Given the description of an element on the screen output the (x, y) to click on. 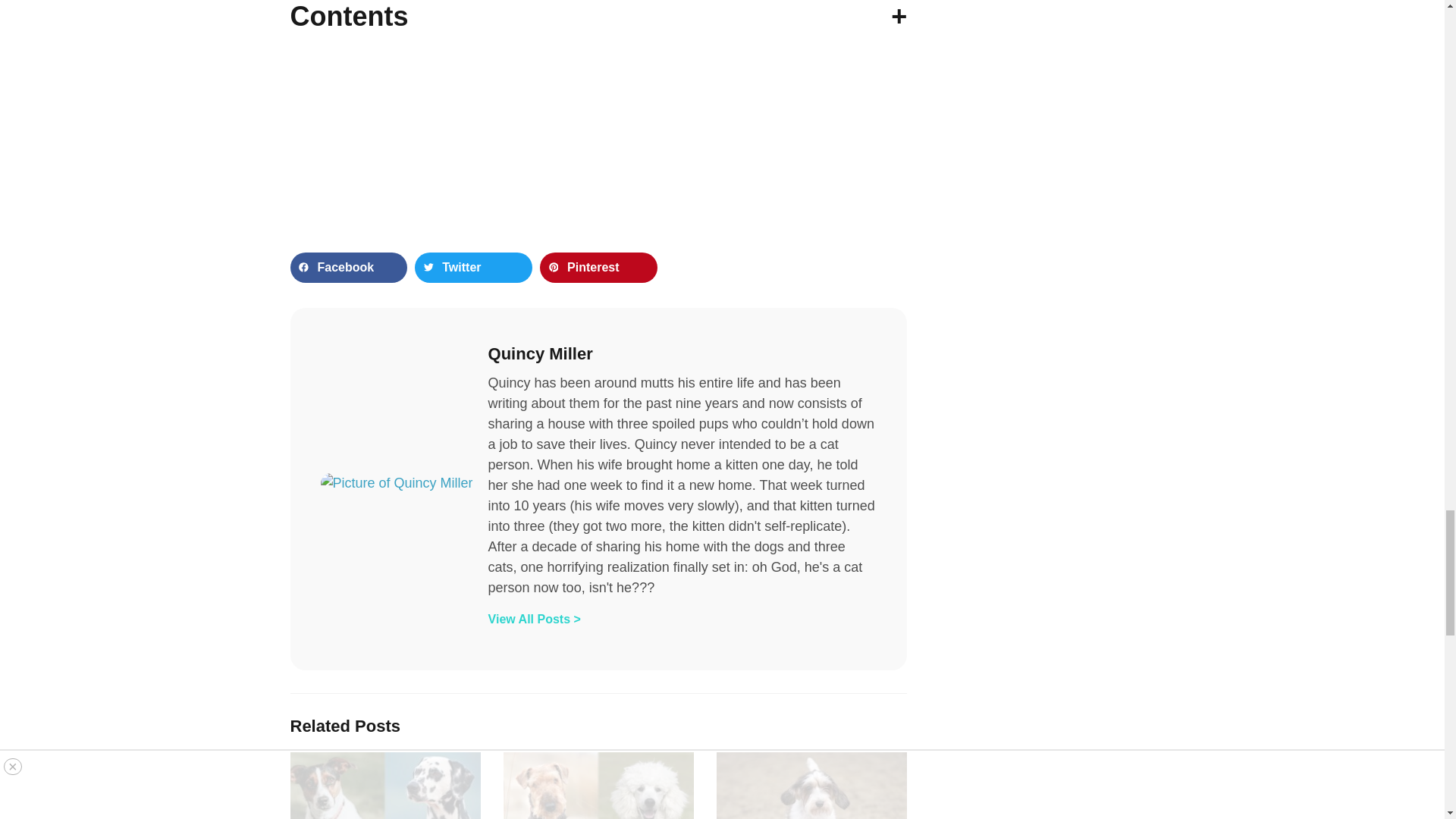
Quincy Miller (682, 353)
